Given the description of an element on the screen output the (x, y) to click on. 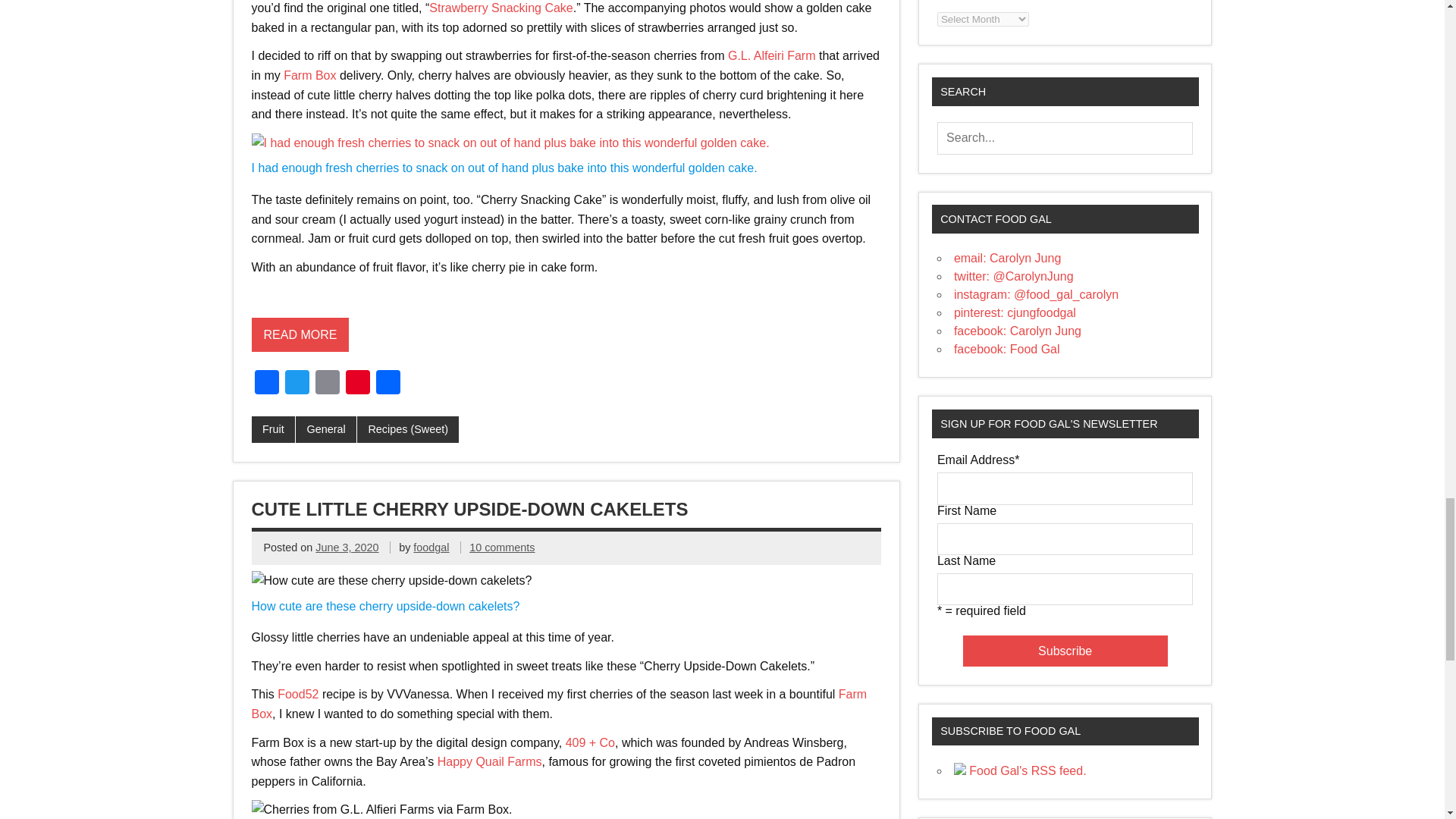
Subscribe (1064, 650)
READ MORE (300, 354)
Twitter (297, 384)
Facebook (266, 384)
Strawberry Snacking Cake (500, 7)
5:27 am (346, 547)
Farm Box (309, 74)
View all posts by foodgal (430, 547)
G.L. Alfeiri Farm (771, 55)
Twitter (297, 384)
